Given the description of an element on the screen output the (x, y) to click on. 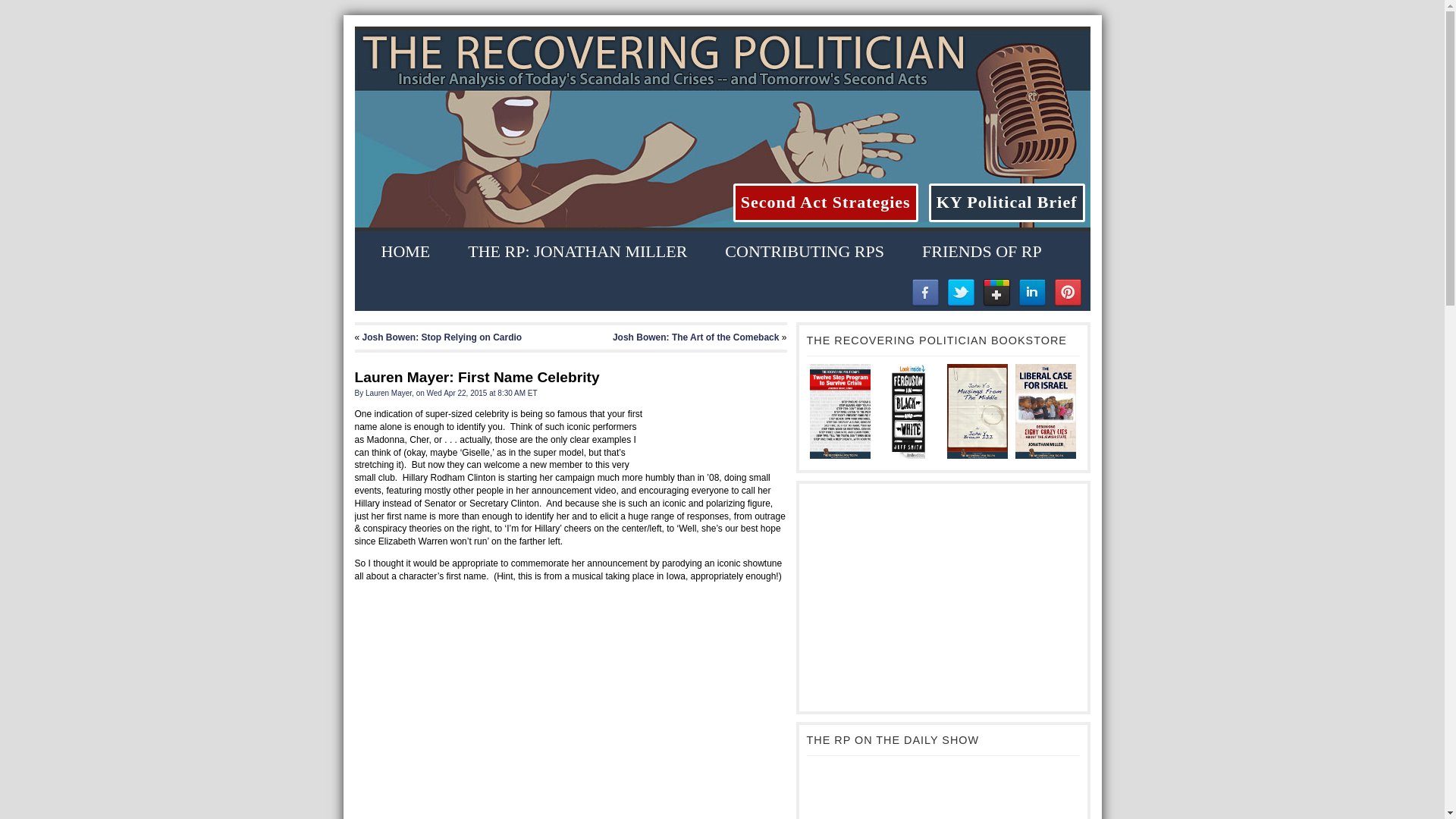
Second Act Strategies (825, 202)
HOME (404, 251)
Advertisement (942, 597)
THE RP: JONATHAN MILLER (577, 251)
KY Political Brief (1006, 202)
FRIENDS OF RP (981, 251)
CONTRIBUTING RPS (804, 251)
The Recovering Politician (722, 60)
